Given the description of an element on the screen output the (x, y) to click on. 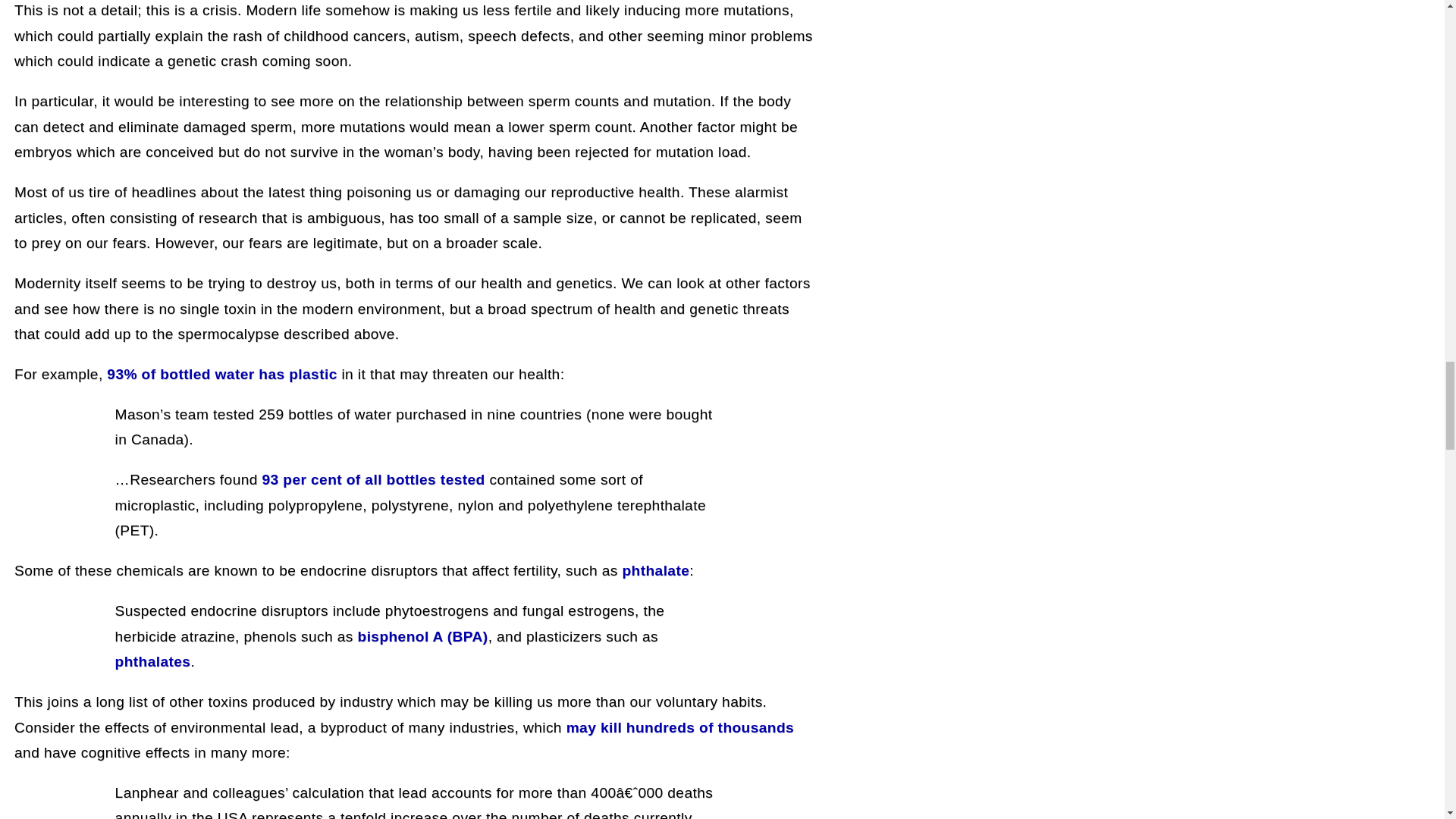
phthalates (152, 661)
phthalate (654, 570)
93 per cent of all bottles tested (373, 479)
may kill hundreds of thousands (679, 727)
